Given the description of an element on the screen output the (x, y) to click on. 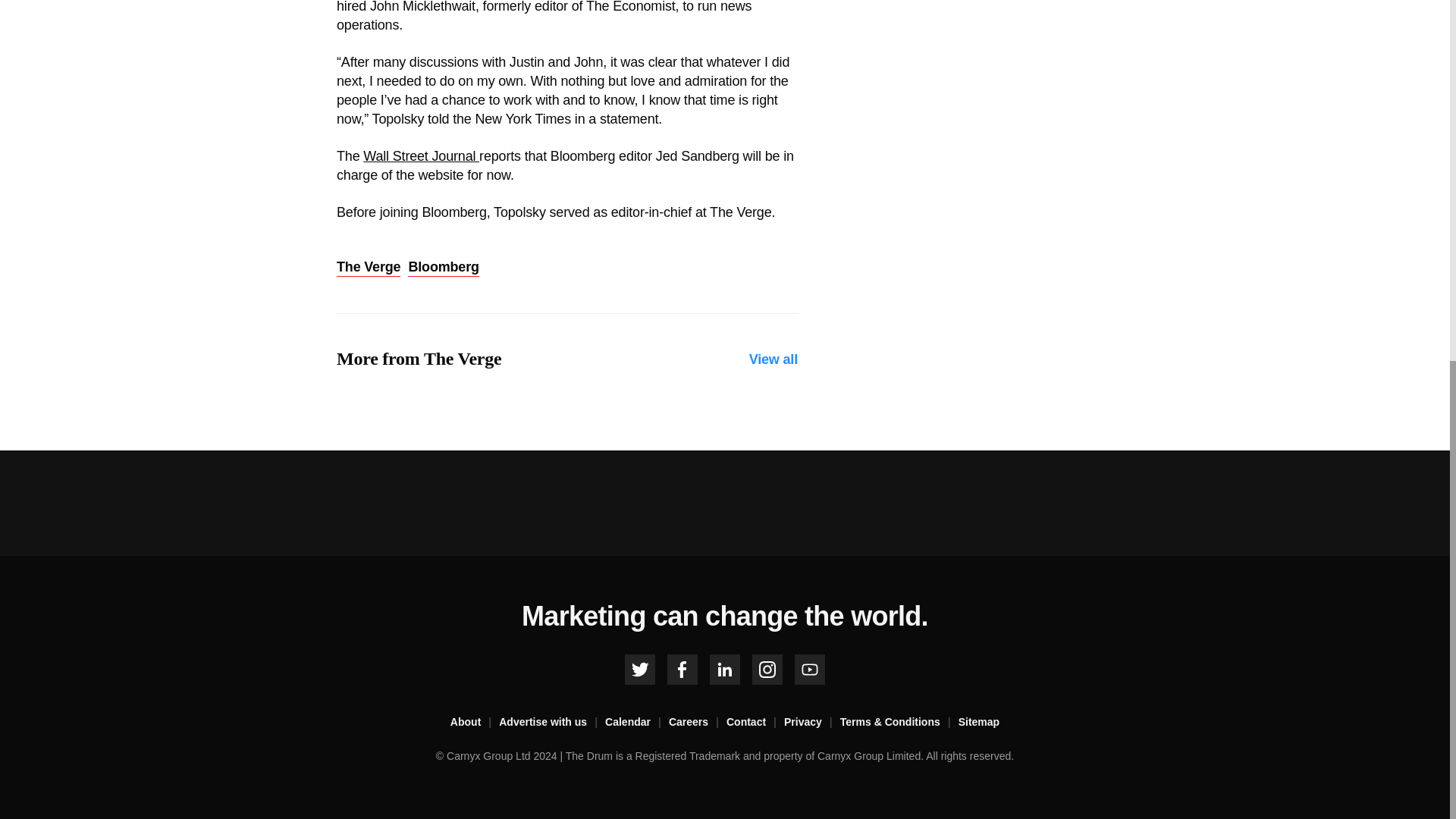
About (474, 722)
Wall Street Journal (420, 155)
Advertise with us (552, 722)
The Verge (368, 267)
Careers (697, 722)
View all (773, 359)
Calendar (636, 722)
Contact (755, 722)
Privacy (812, 722)
Bloomberg (443, 267)
